Given the description of an element on the screen output the (x, y) to click on. 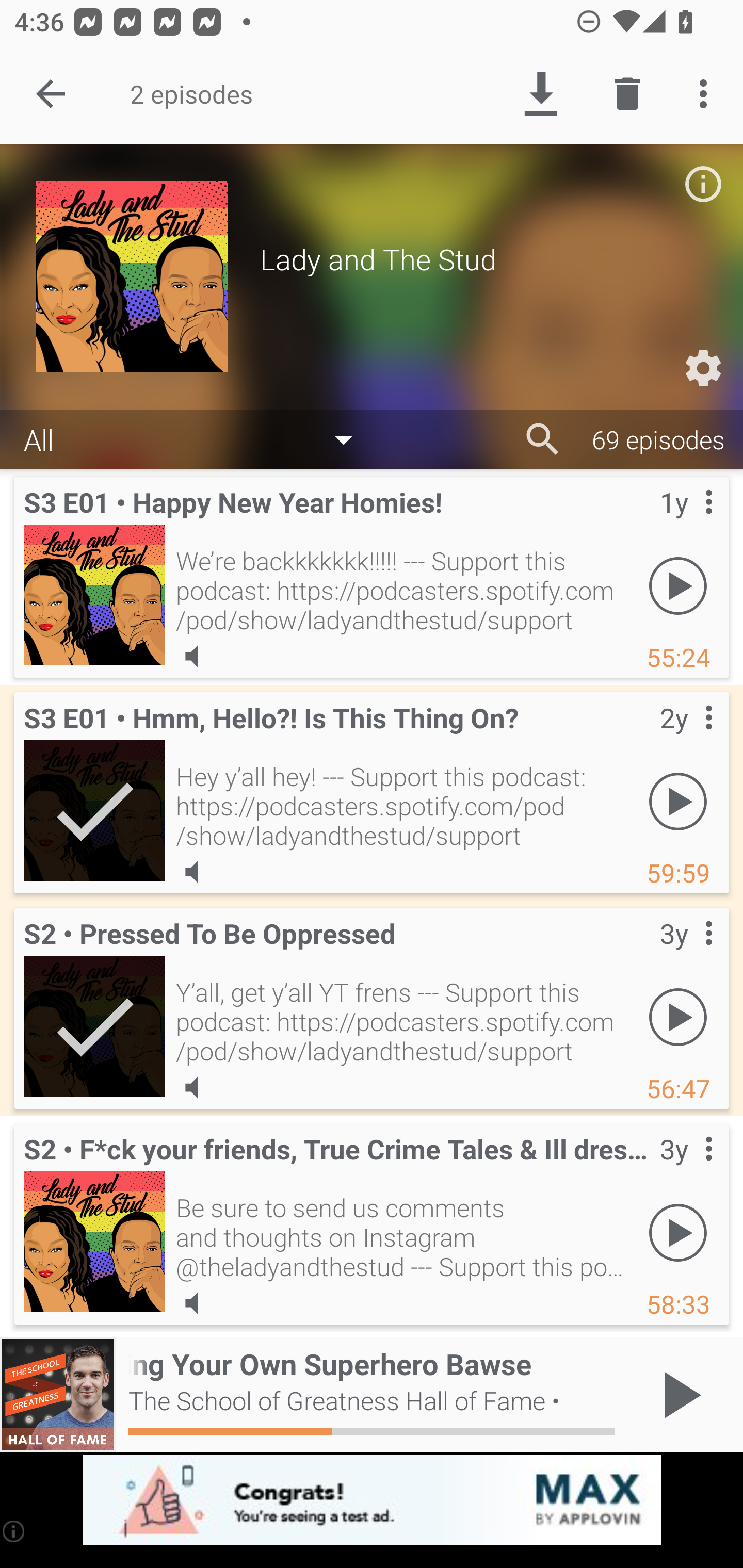
Done (50, 93)
Download (540, 93)
Delete episode (626, 93)
More options (706, 93)
Podcast description (703, 184)
Custom Settings (703, 368)
Search (542, 439)
All (197, 438)
Contextual menu (685, 522)
Happy New Year Homies! (93, 594)
Play (677, 585)
Contextual menu (685, 738)
Hmm, Hello?! Is This Thing On? (93, 810)
Play (677, 801)
Contextual menu (685, 954)
Pressed To Be Oppressed (93, 1026)
Play (677, 1016)
Contextual menu (685, 1169)
Play (677, 1232)
Play / Pause (677, 1394)
app-monetization (371, 1500)
(i) (14, 1531)
